Given the description of an element on the screen output the (x, y) to click on. 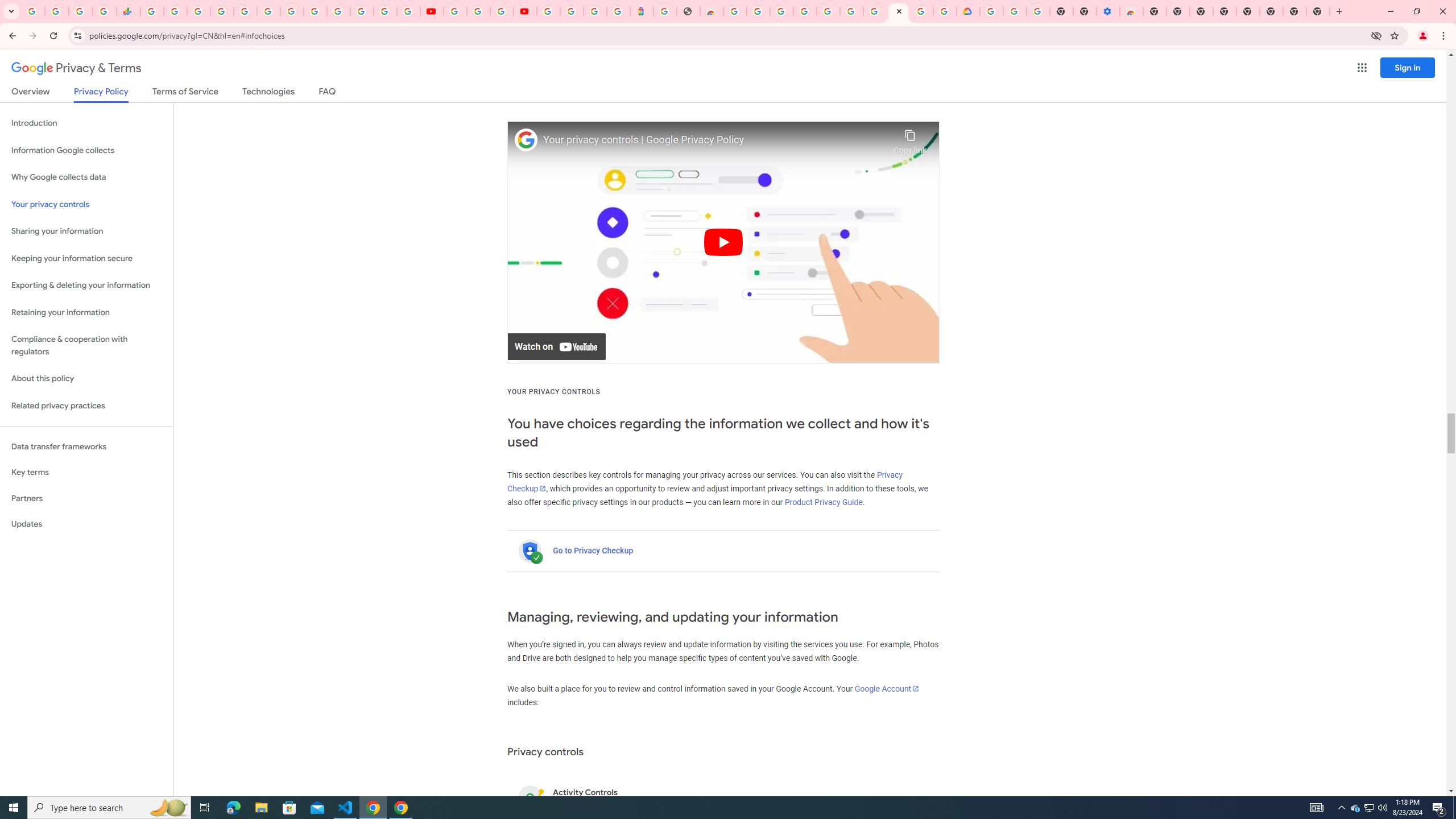
Google Account Help (478, 11)
Photo image of Google (526, 139)
Create your Google Account (501, 11)
Sign in - Google Accounts (827, 11)
Privacy Checkup (704, 481)
New Tab (1318, 11)
Sign in - Google Accounts (547, 11)
Content Creator Programs & Opportunities - YouTube Creators (524, 11)
